Given the description of an element on the screen output the (x, y) to click on. 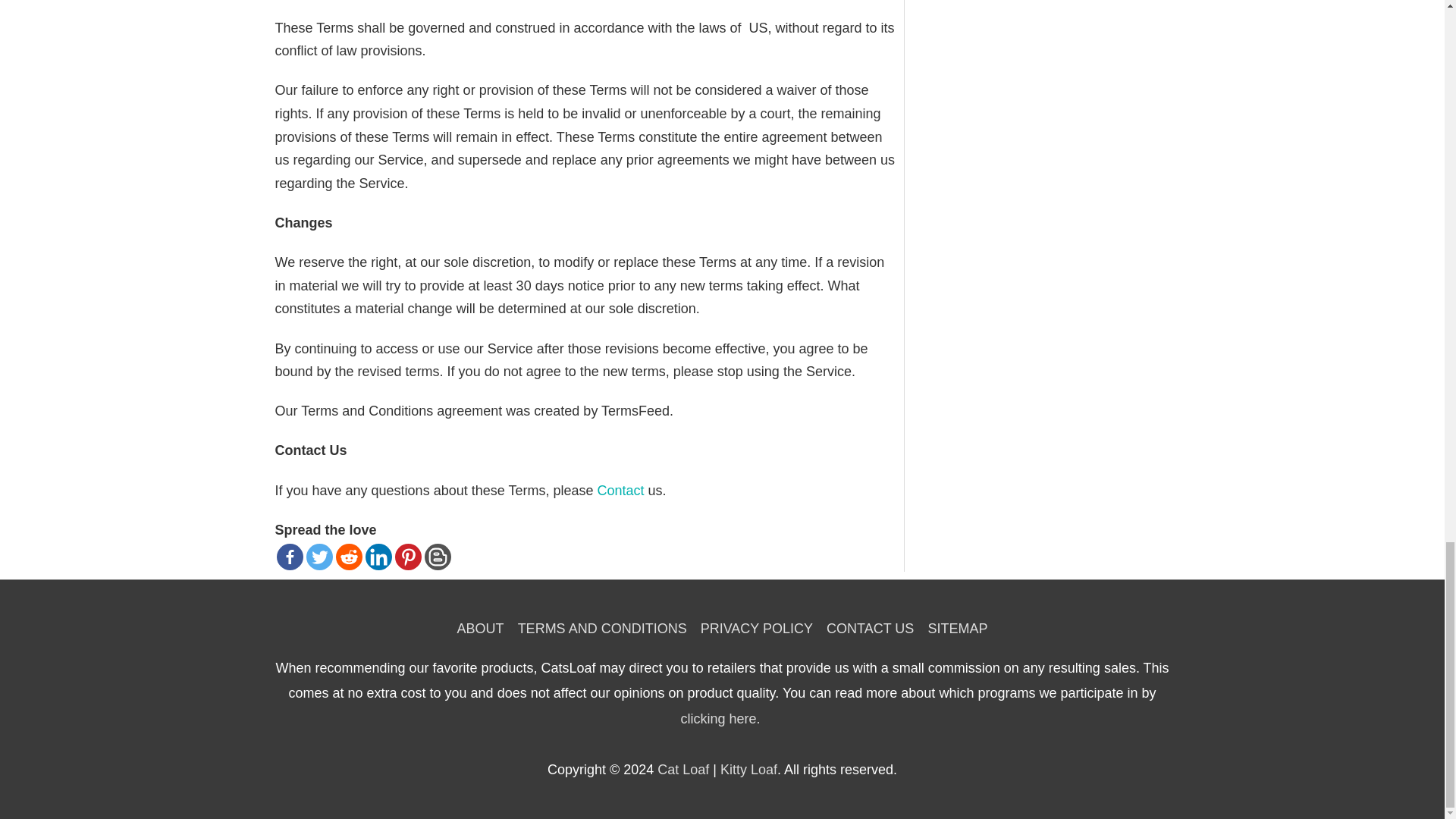
CONTACT US (869, 628)
PRIVACY POLICY (756, 628)
Pinterest (407, 556)
Contact (619, 490)
Facebook (289, 556)
clicking here. (719, 718)
Blogger Post (438, 556)
Cat Loaf (683, 769)
ABOUT (484, 628)
Kitty Loaf (748, 769)
Reddit (347, 556)
TERMS AND CONDITIONS (602, 628)
Twitter (319, 556)
Linkedin (378, 556)
SITEMAP (953, 628)
